Given the description of an element on the screen output the (x, y) to click on. 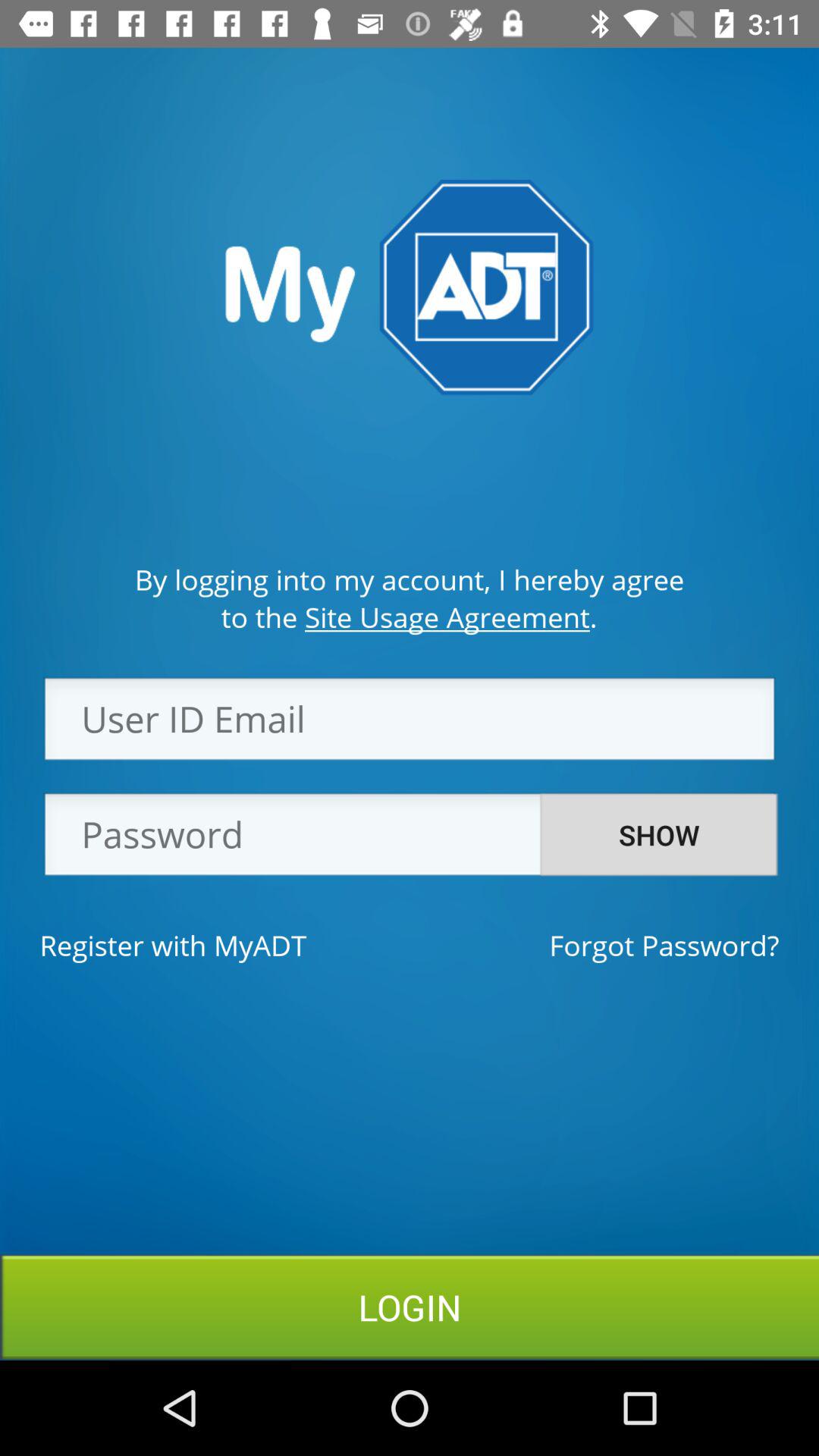
choose show (659, 835)
